Given the description of an element on the screen output the (x, y) to click on. 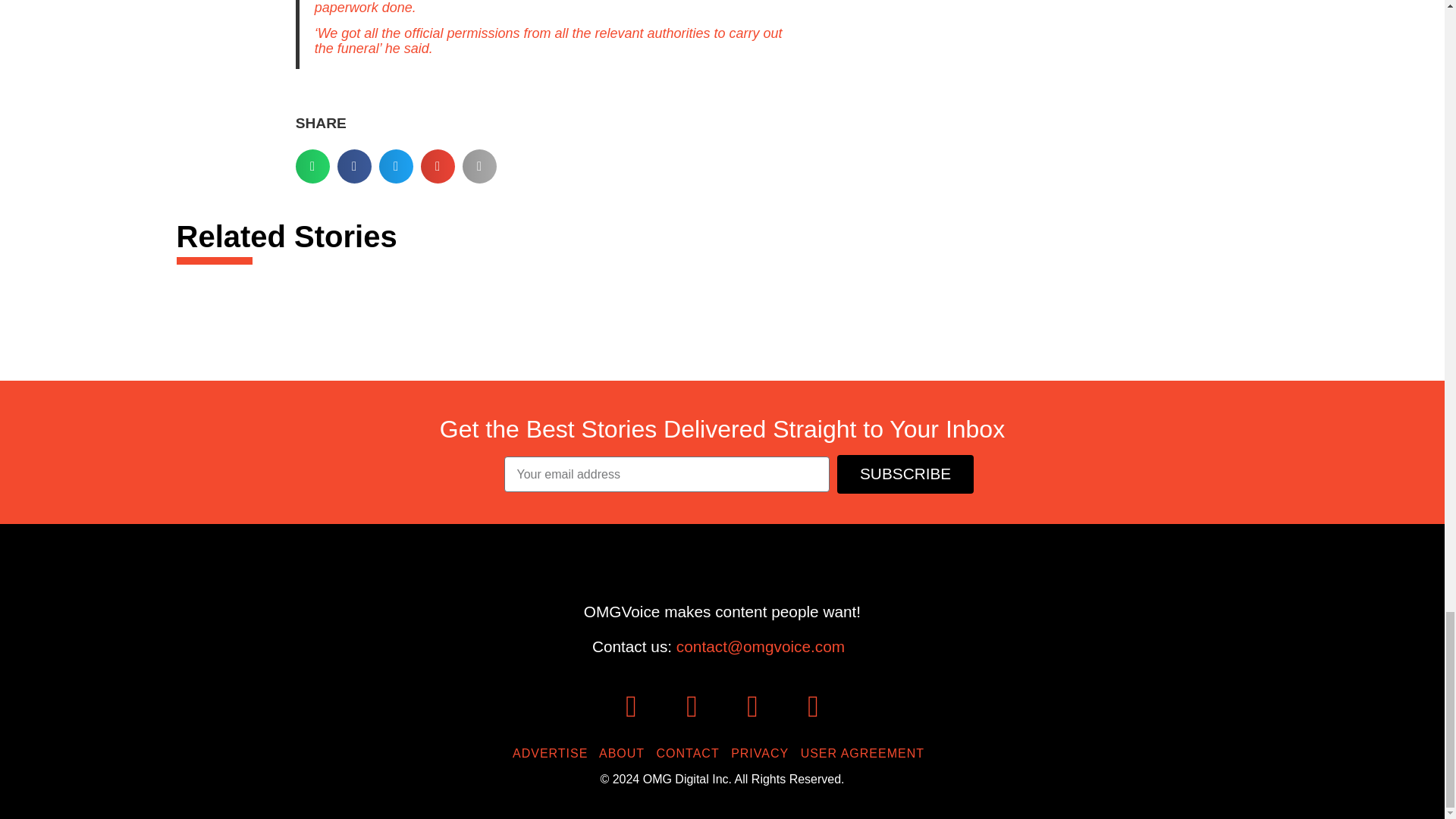
CONTACT (691, 753)
ADVERTISE (553, 753)
USER AGREEMENT (865, 753)
SUBSCRIBE (905, 474)
PRIVACY (763, 753)
ABOUT (625, 753)
